Given the description of an element on the screen output the (x, y) to click on. 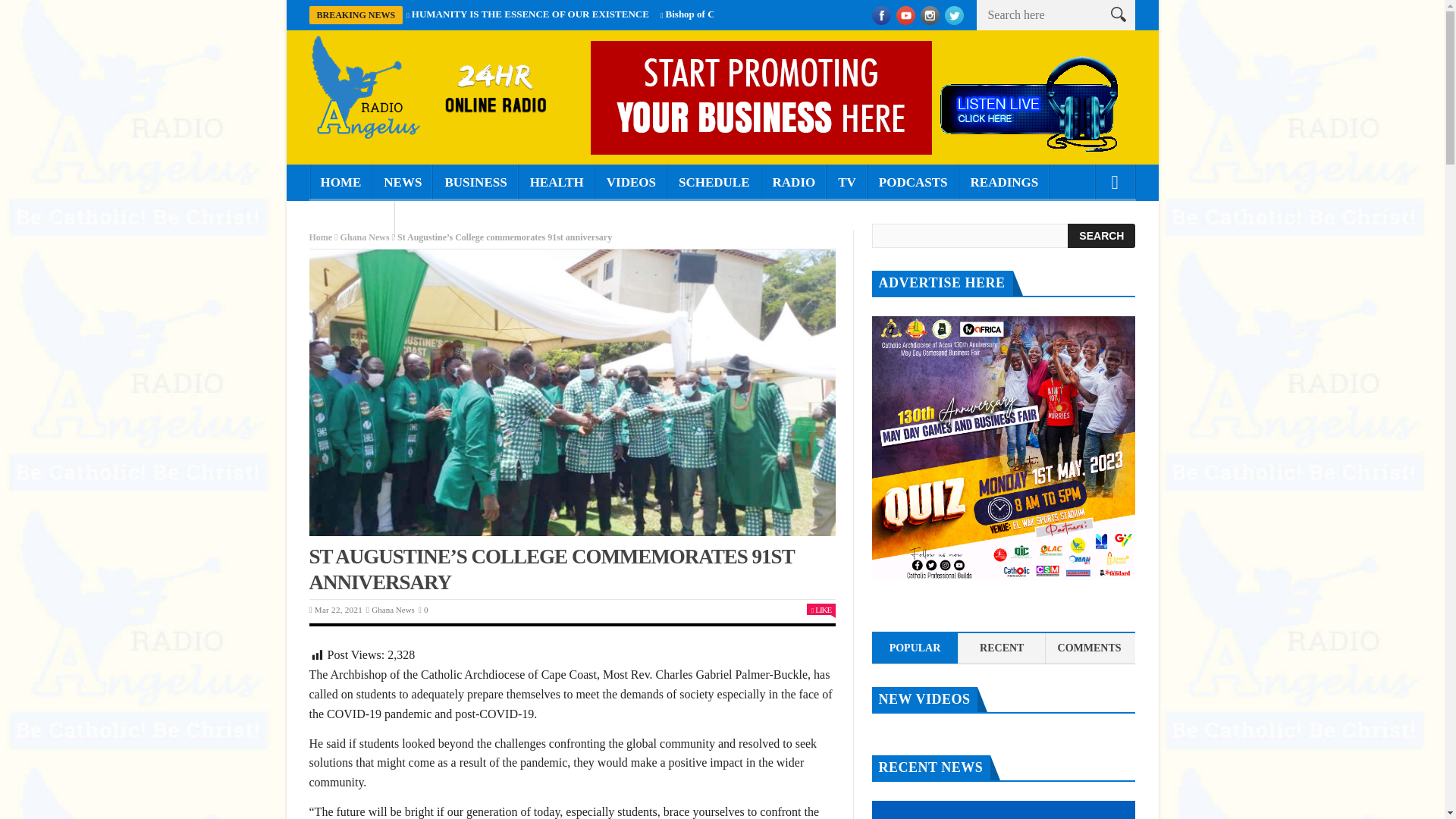
HUMANITY IS THE ESSENCE OF OUR EXISTENCE (530, 14)
SCHEDULE (713, 182)
BUSINESS (475, 182)
Like (820, 609)
VIDEOS (630, 182)
HEALTH (556, 182)
NEWS (402, 182)
Search (1101, 235)
HOME (340, 182)
